Given the description of an element on the screen output the (x, y) to click on. 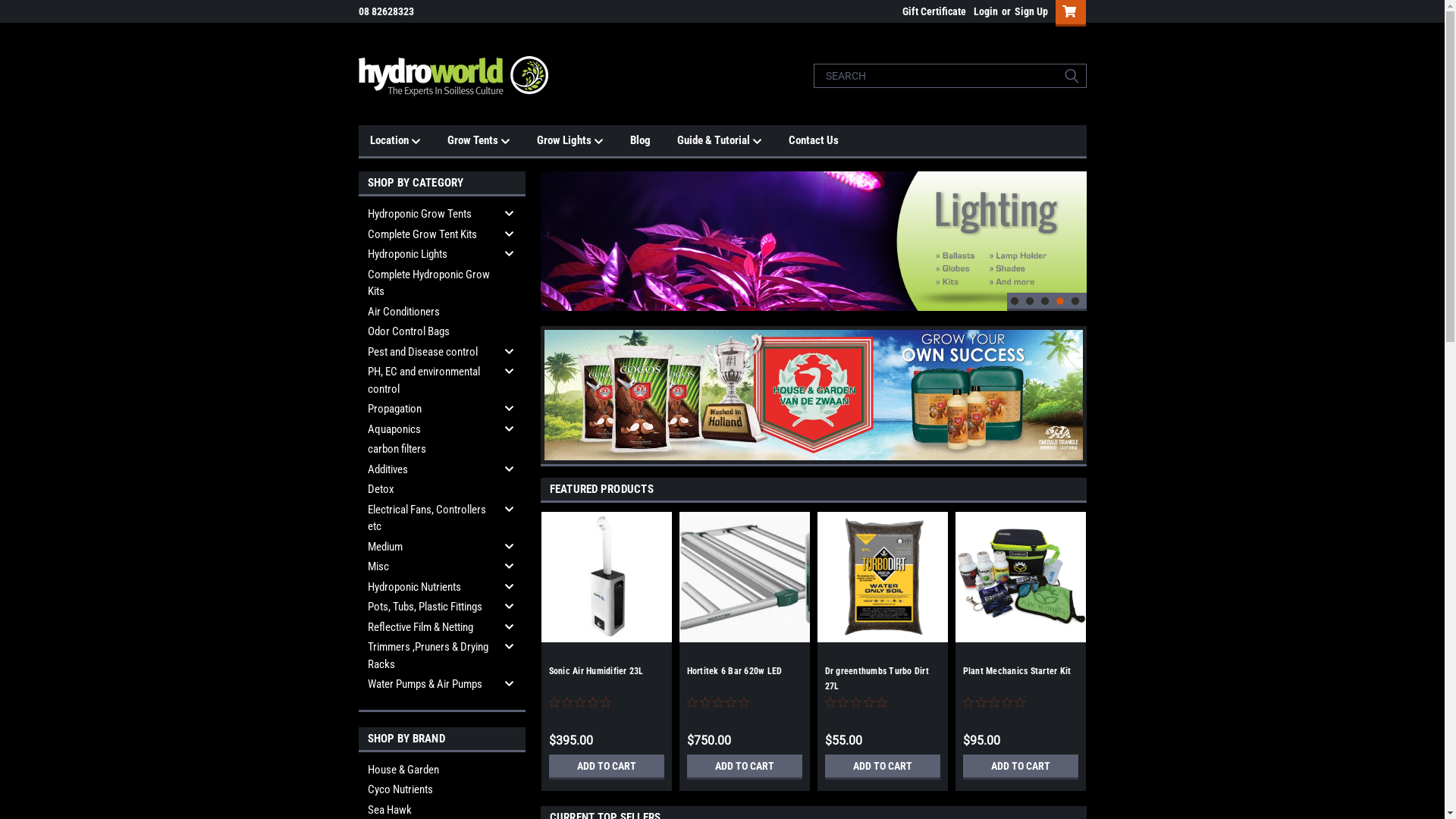
Pest and Disease control Element type: text (428, 351)
2 Element type: text (1029, 301)
ADD TO CART Element type: text (1020, 766)
ADD TO CART Element type: text (606, 766)
Dr Greenthumbs Turbo Dirt 27L Element type: hover (882, 576)
Detox Element type: text (428, 489)
Hydroponic Lights Element type: text (428, 254)
Sonic Air 23L Element type: hover (606, 576)
ADD TO CART Element type: text (882, 766)
Cyco Nutrients Element type: text (441, 789)
Additives Element type: text (428, 469)
Plant Mechanics Starter Kit Element type: hover (1020, 576)
5 Element type: text (1074, 301)
Medium Element type: text (428, 546)
Hortitek 620w  Element type: hover (744, 576)
Complete Hydroponic Grow Kits Element type: text (428, 282)
1 Element type: text (1014, 301)
Trimmers ,Pruners & Drying Racks Element type: text (428, 655)
Dr greenthumbs Turbo Dirt 27L Element type: text (876, 678)
Complete Grow Tent Kits Element type: text (428, 234)
House & Garden Element type: text (441, 769)
Water Pumps & Air Pumps Element type: text (428, 684)
Login Element type: text (985, 11)
Blog Element type: text (652, 140)
hydroworld-h-g-slider-2019.gif Element type: hover (813, 394)
Air Conditioners Element type: text (428, 311)
Lighting Element type: hover (812, 240)
Hortitek 6 Bar 620w LED Element type: text (734, 670)
Location Element type: text (408, 140)
Contact Us Element type: text (826, 140)
Hydro World Element type: hover (452, 76)
Odor Control Bags Element type: text (428, 331)
Misc Element type: text (428, 566)
Pots, Tubs, Plastic Fittings Element type: text (428, 606)
Propagation Element type: text (428, 408)
Plant Mechanics Starter Kit Element type: text (1017, 670)
submit Element type: hover (1070, 75)
Aquaponics Element type: text (428, 428)
Grow Tents Element type: text (491, 140)
4 Element type: text (1059, 301)
Hydroponic Grow Tents Element type: text (428, 213)
Hydroponic Nutrients Element type: text (428, 586)
Electrical Fans, Controllers etc Element type: text (428, 517)
3 Element type: text (1044, 301)
PH, EC and environmental control Element type: text (428, 379)
ADD TO CART Element type: text (744, 766)
carbon filters Element type: text (428, 449)
Reflective Film & Netting Element type: text (428, 627)
Guide & Tutorial Element type: text (731, 140)
Grow Lights Element type: text (583, 140)
Gift Certificate Element type: text (930, 11)
Sonic Air Humidifier 23L Element type: text (596, 670)
Sign Up Element type: text (1028, 11)
